Given the description of an element on the screen output the (x, y) to click on. 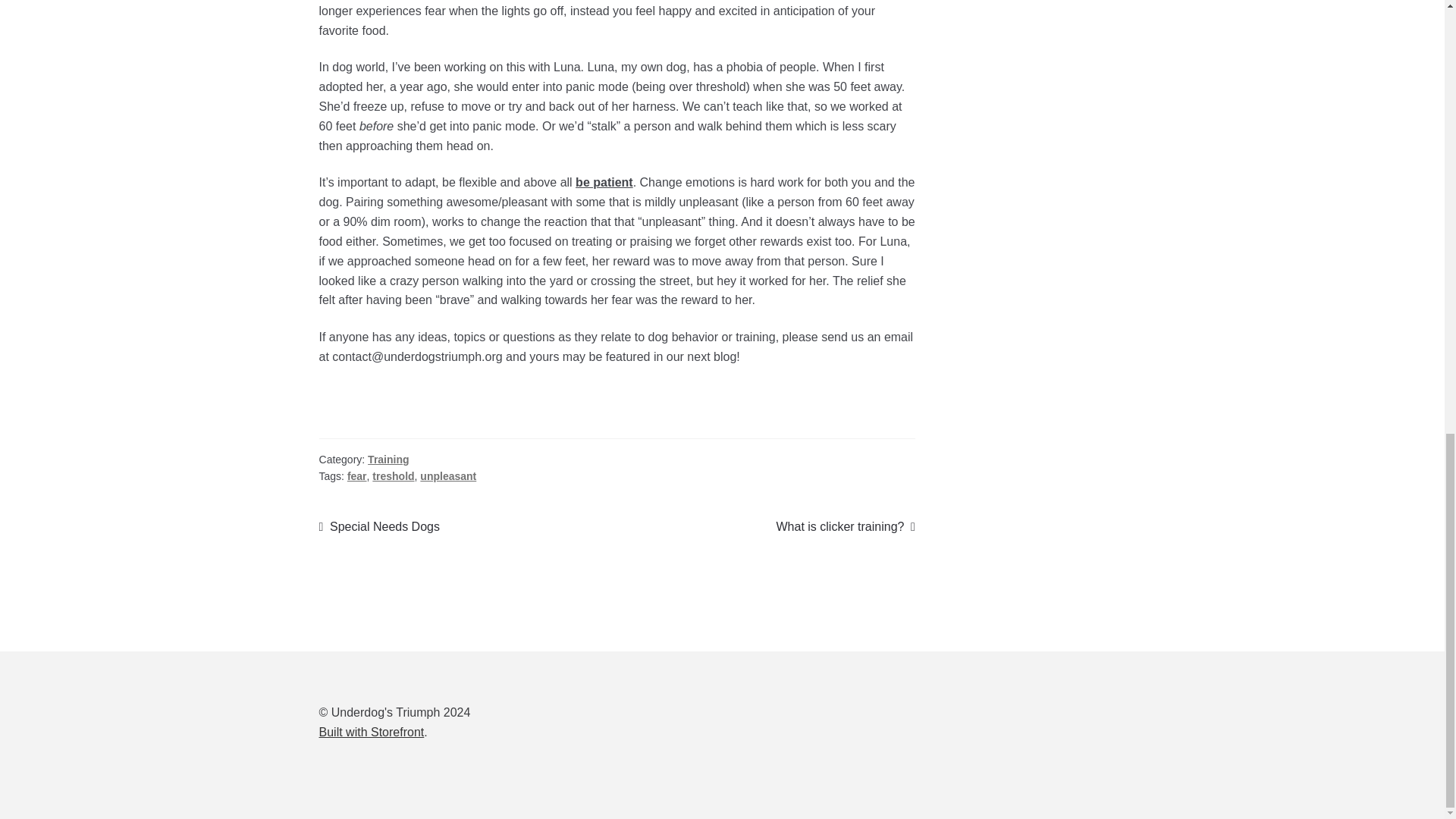
fear (845, 526)
Built with Storefront (356, 476)
Training (371, 731)
treshold (388, 459)
unpleasant (392, 476)
